Given the description of an element on the screen output the (x, y) to click on. 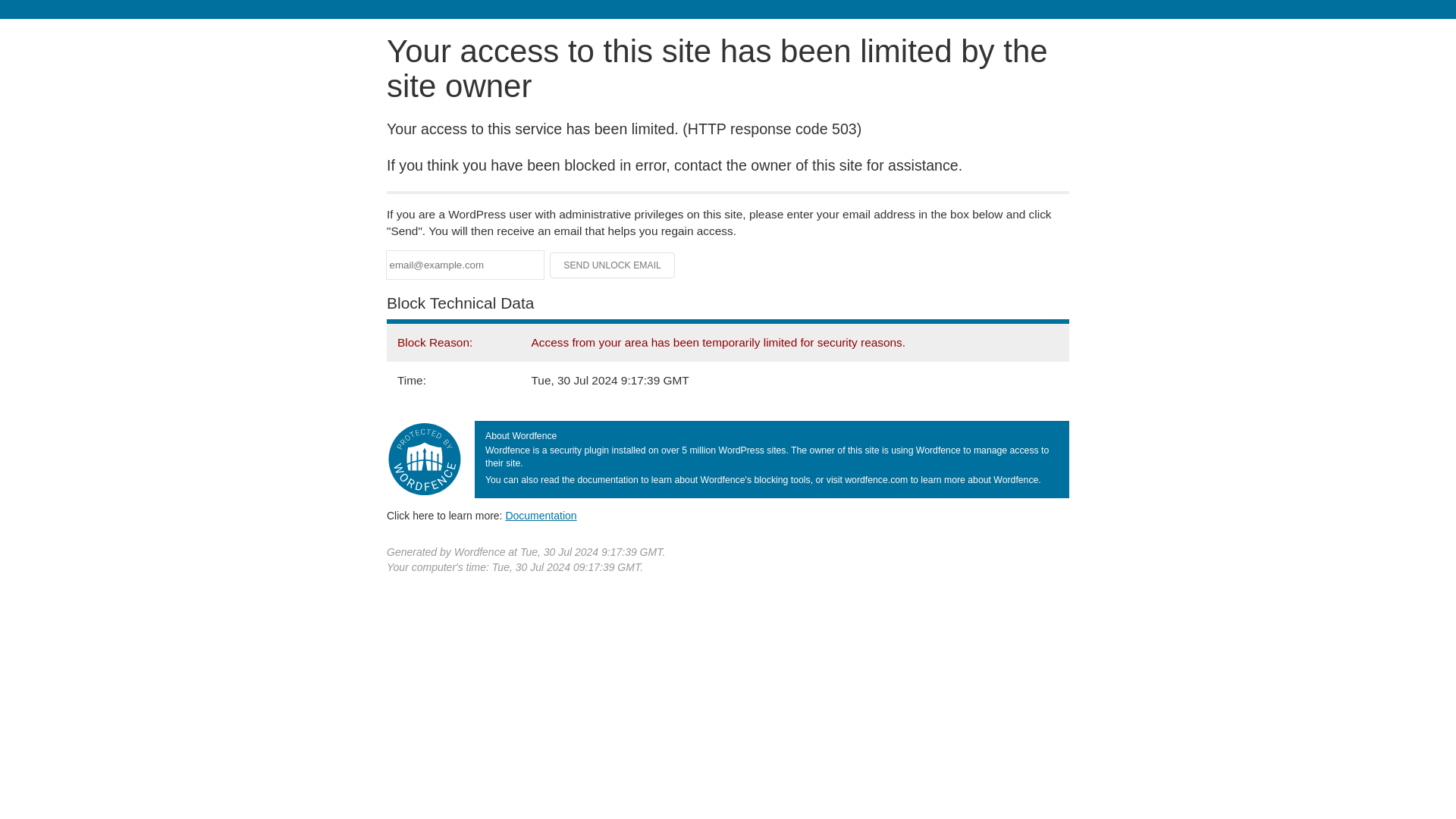
Send Unlock Email (612, 265)
Documentation (540, 515)
Send Unlock Email (612, 265)
